Given the description of an element on the screen output the (x, y) to click on. 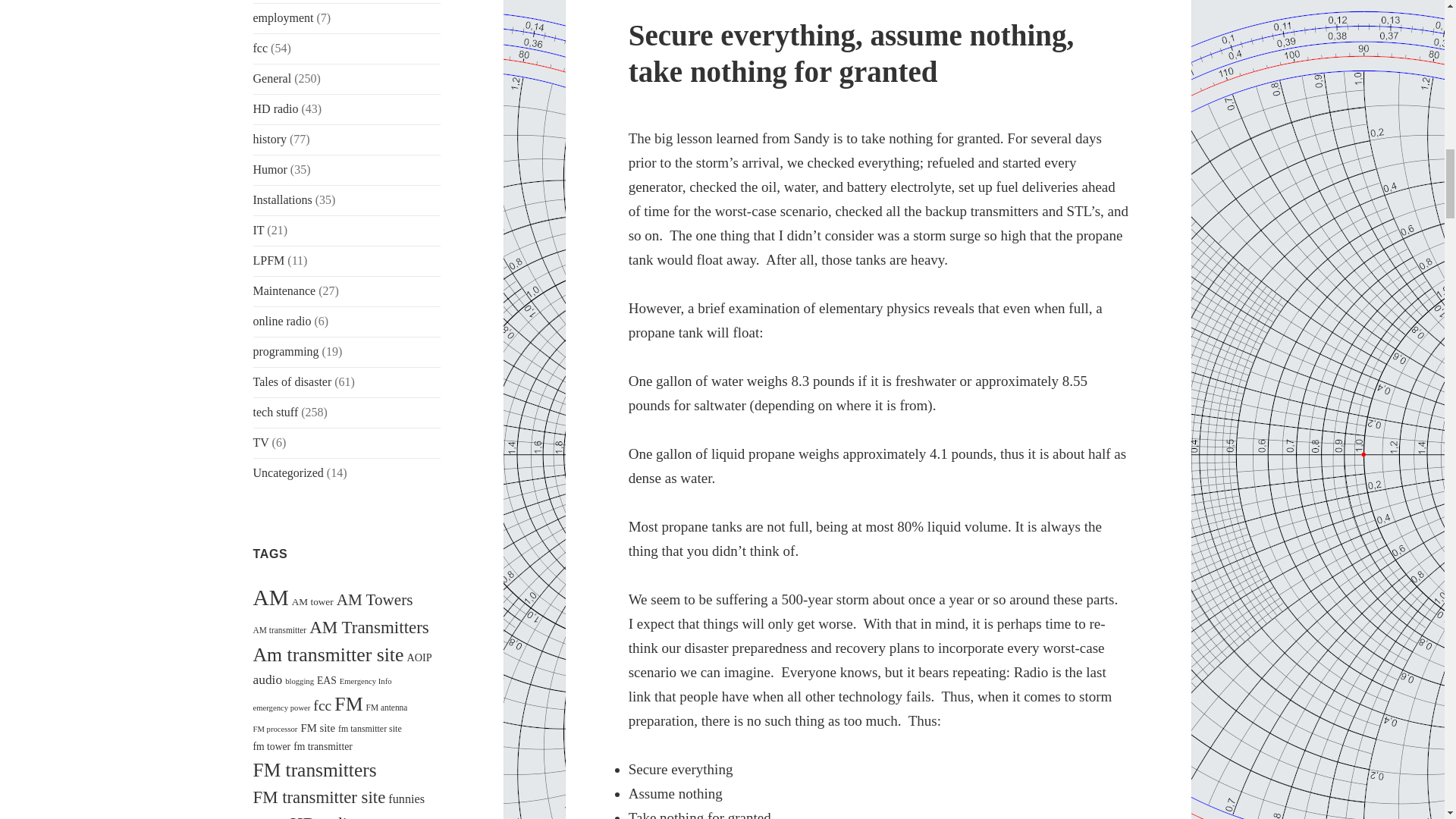
employment (283, 17)
HD radio (275, 108)
Installations (283, 199)
LPFM (269, 259)
history (269, 138)
Humor (269, 169)
fcc (260, 47)
Maintenance (284, 290)
General (272, 78)
